Given the description of an element on the screen output the (x, y) to click on. 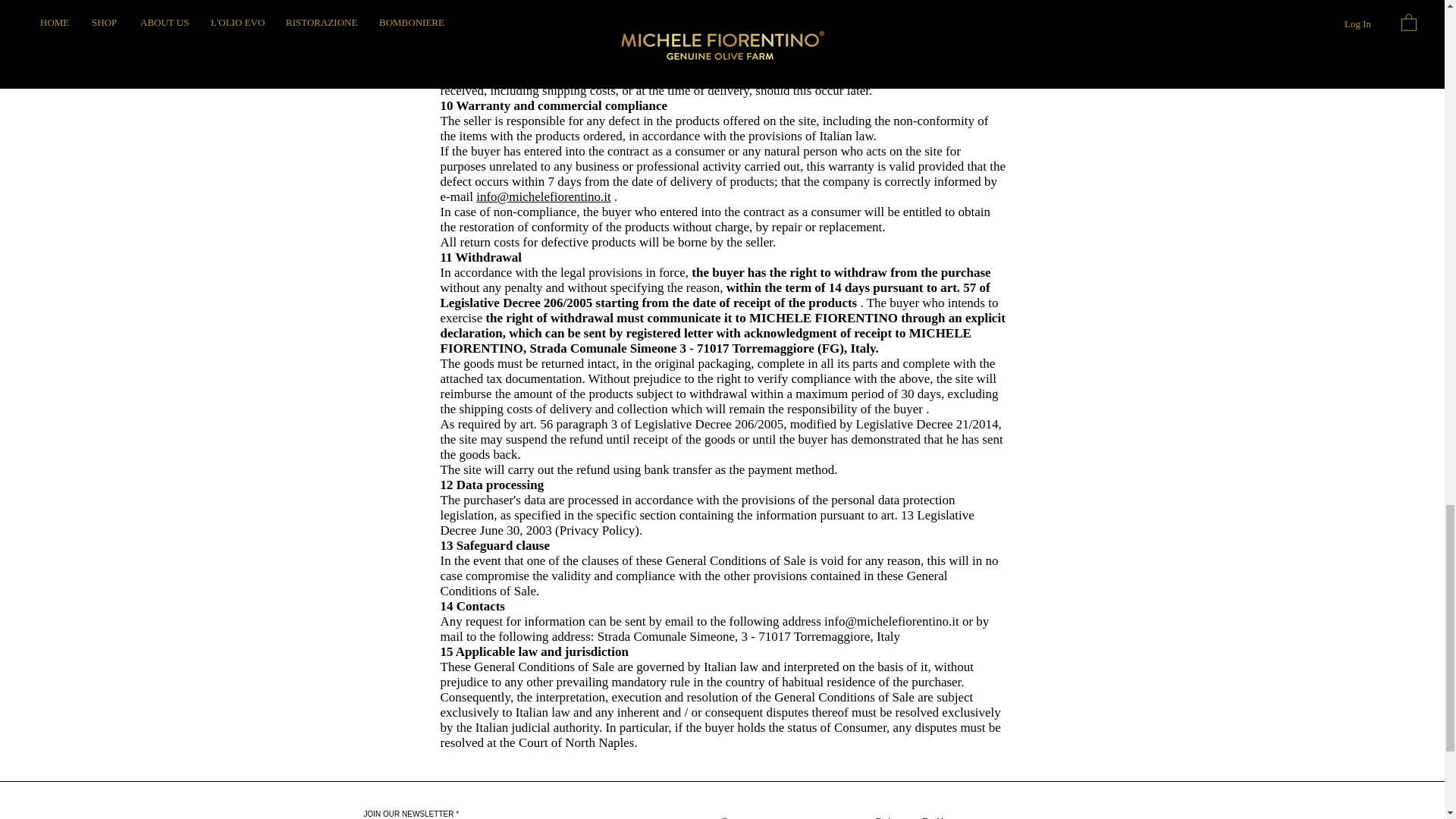
Facebook (1040, 817)
Privacy Policy (916, 816)
Contact (741, 817)
